Given the description of an element on the screen output the (x, y) to click on. 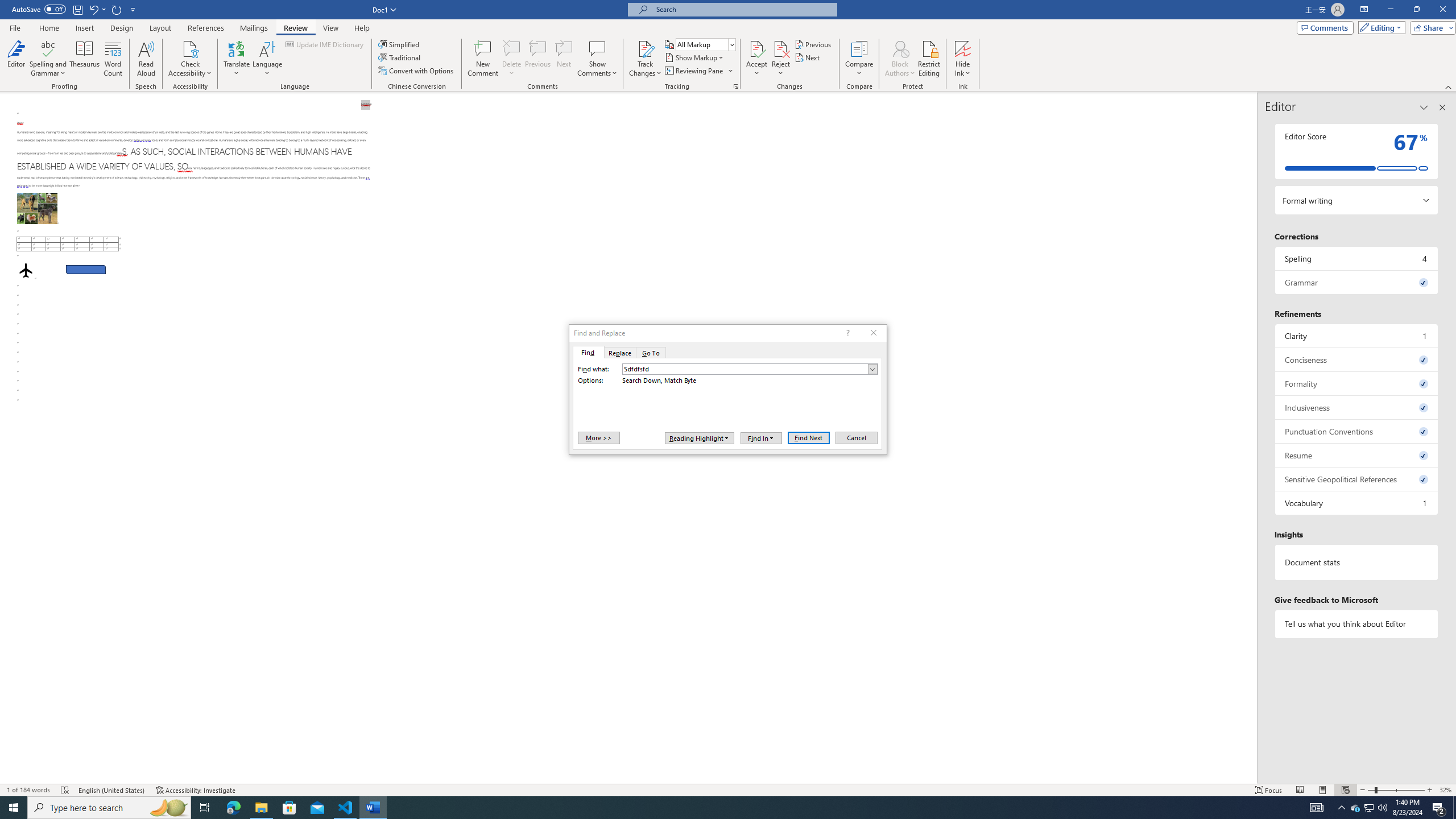
Thesaurus... (84, 58)
Rectangle: Diagonal Corners Snipped 2 (85, 269)
Compare (859, 58)
Restrict Editing (929, 58)
Word Count 1 of 184 words (28, 790)
Spelling and Grammar (48, 58)
